Given the description of an element on the screen output the (x, y) to click on. 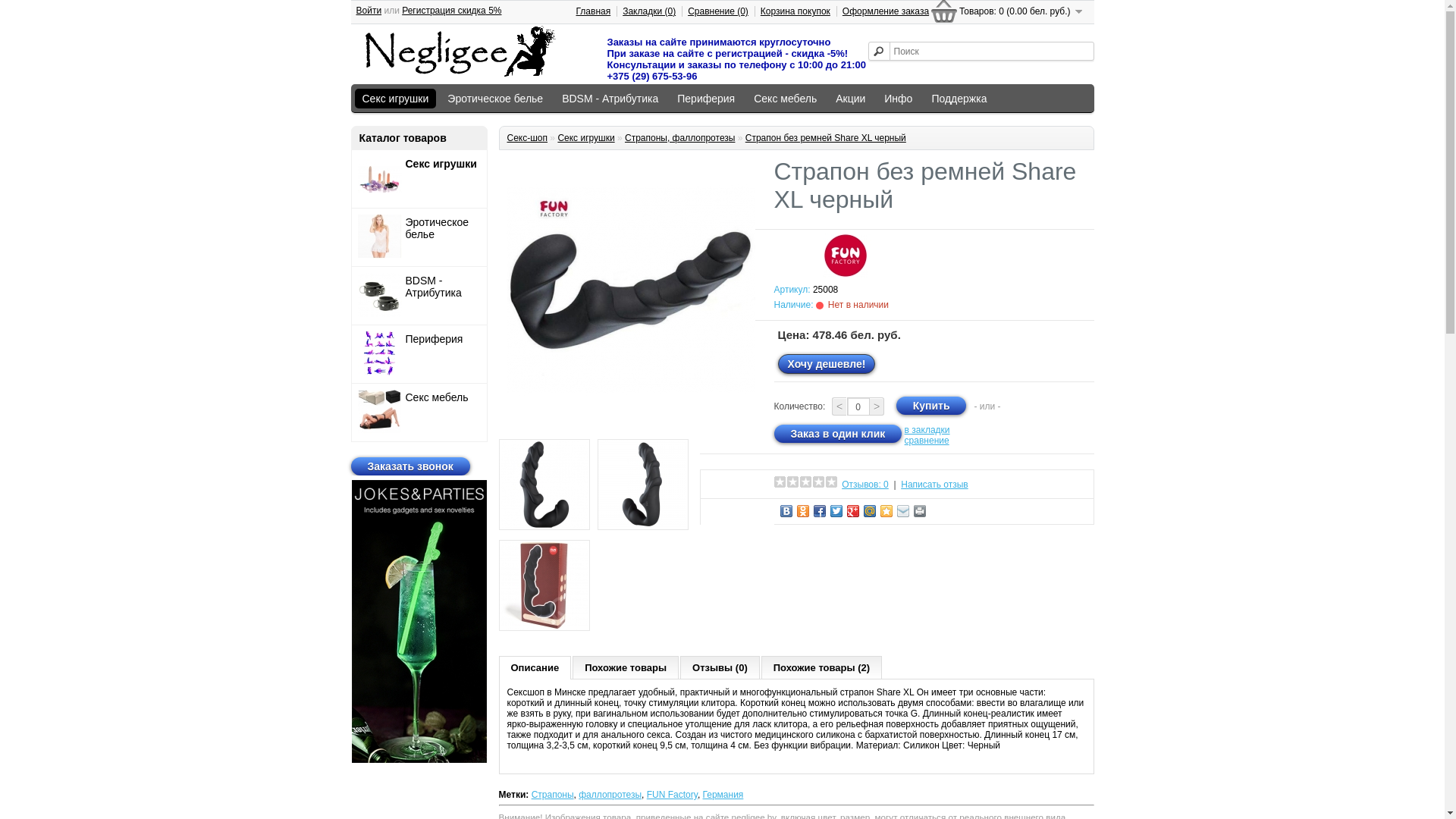
FUN Factory Element type: text (671, 794)
